Given the description of an element on the screen output the (x, y) to click on. 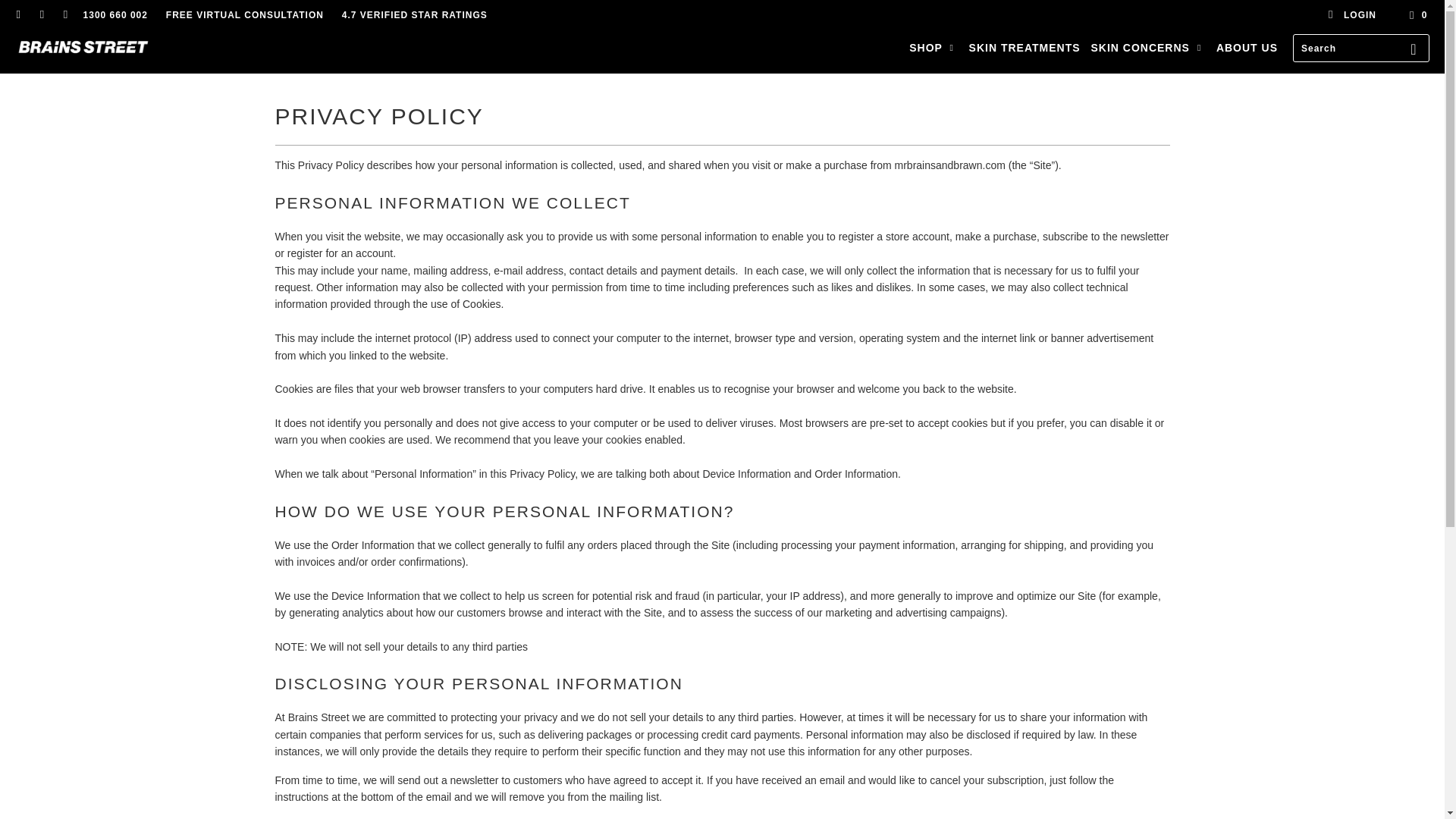
My Account  (1351, 15)
Email Brains Street (64, 14)
Brains Street on Facebook (17, 14)
Brains Street on Instagram (41, 14)
Brains Street (82, 47)
